Given the description of an element on the screen output the (x, y) to click on. 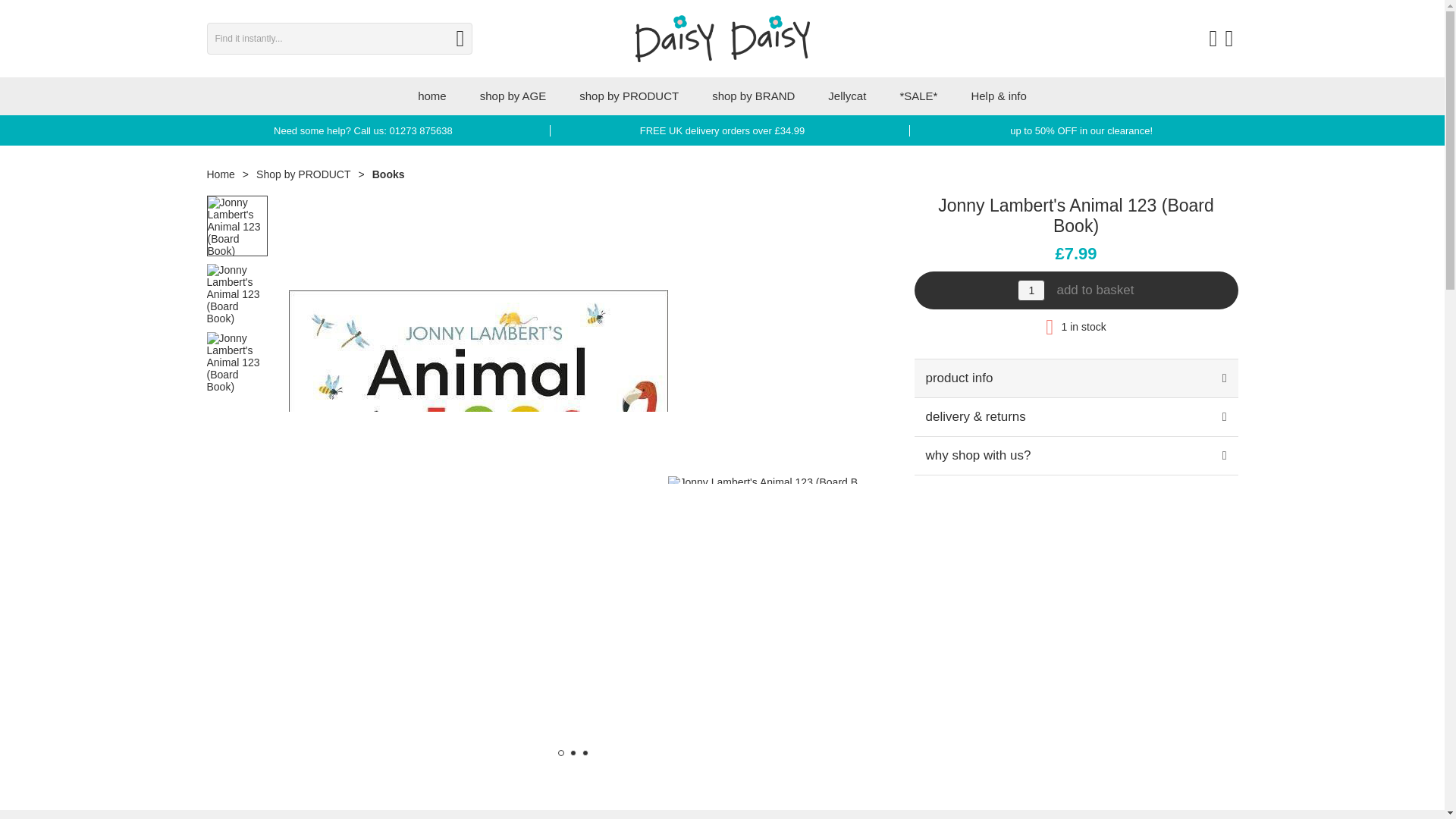
shop by AGE (513, 95)
home (432, 95)
shop by PRODUCT (628, 95)
1 (1031, 290)
